Given the description of an element on the screen output the (x, y) to click on. 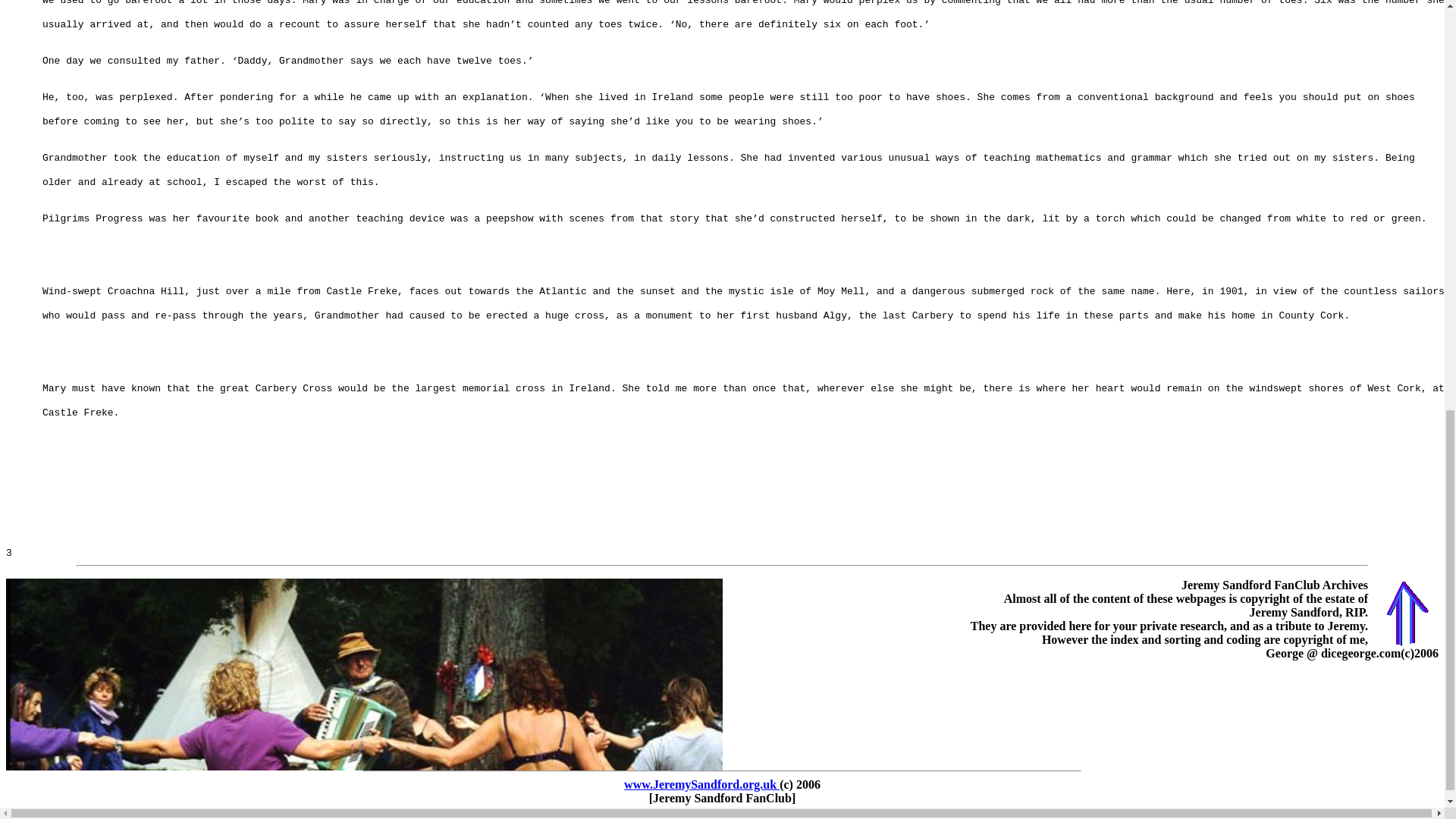
www.JeremySandford.org.uk (701, 784)
